Given the description of an element on the screen output the (x, y) to click on. 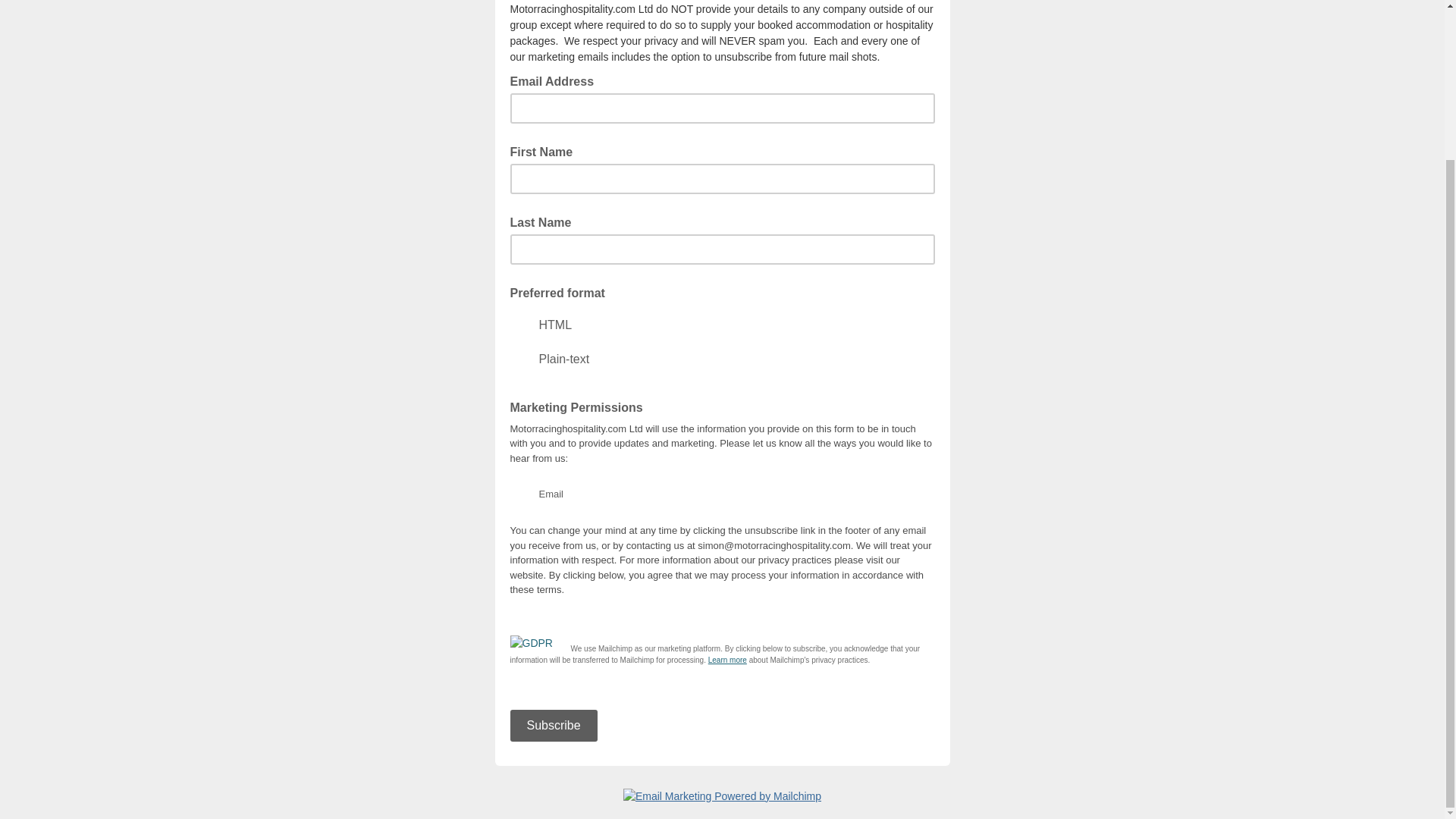
Mailchimp Email Marketing (722, 795)
Subscribe (552, 726)
Learn more (726, 660)
Subscribe (552, 726)
